Given the description of an element on the screen output the (x, y) to click on. 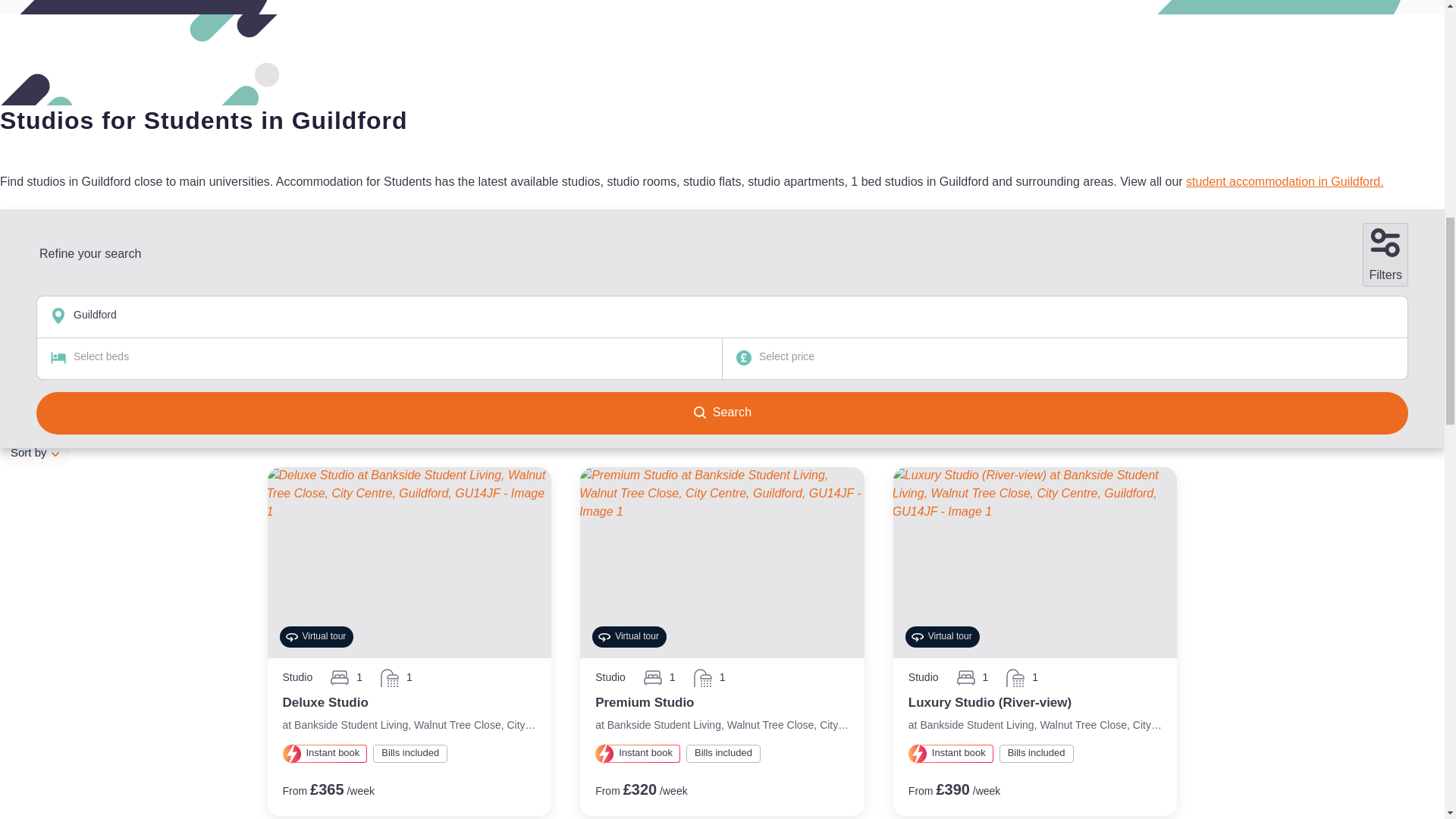
Studio (1317, 328)
Select beds (379, 358)
Guildford (82, 291)
Bills included (1238, 328)
Select bedrooms (248, 291)
Select price (1064, 358)
Guildford (82, 291)
Search (721, 413)
Guildford (722, 316)
Search (555, 292)
